Given the description of an element on the screen output the (x, y) to click on. 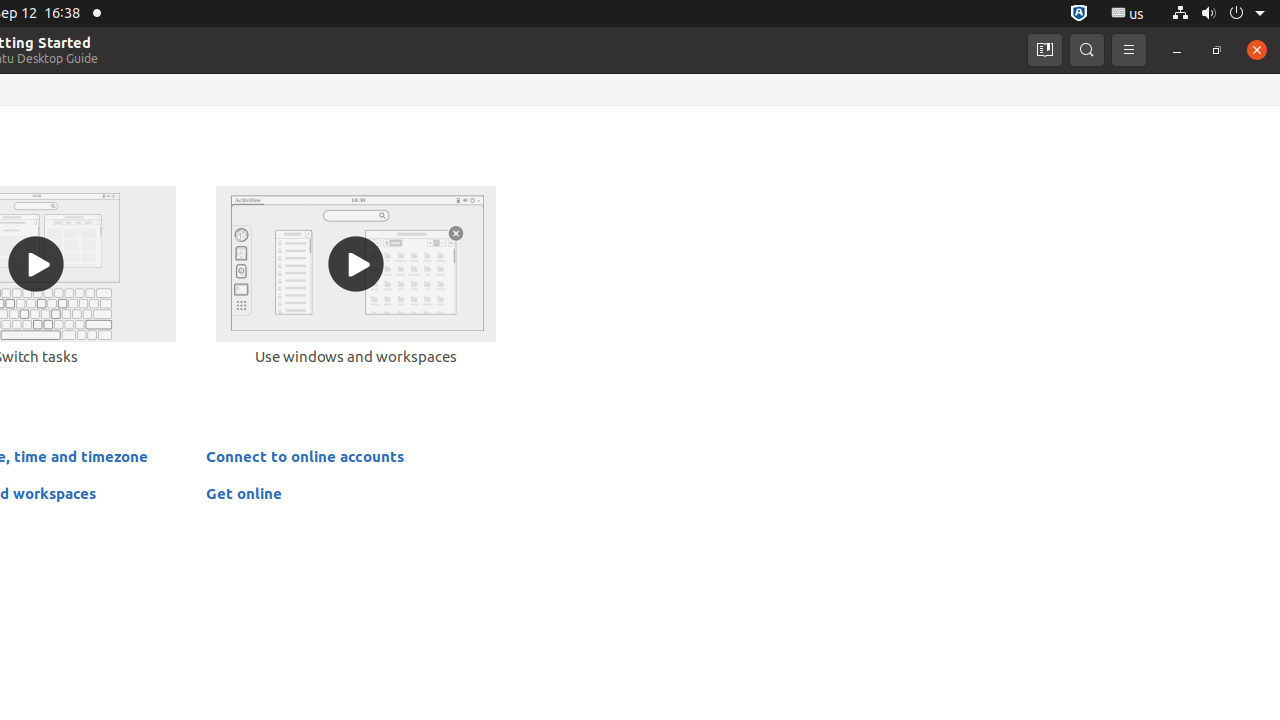
Restore Element type: push-button (1217, 50)
Get online Element type: link (244, 493)
Connect to online accounts Element type: link (305, 456)
Minimize Element type: push-button (1177, 50)
